Given the description of an element on the screen output the (x, y) to click on. 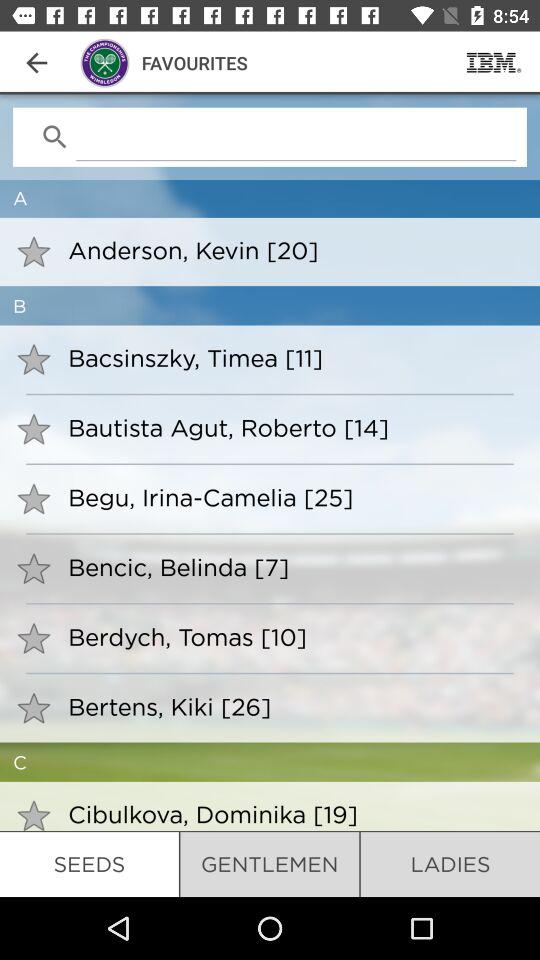
select item to the right of gentlemen (450, 863)
